Given the description of an element on the screen output the (x, y) to click on. 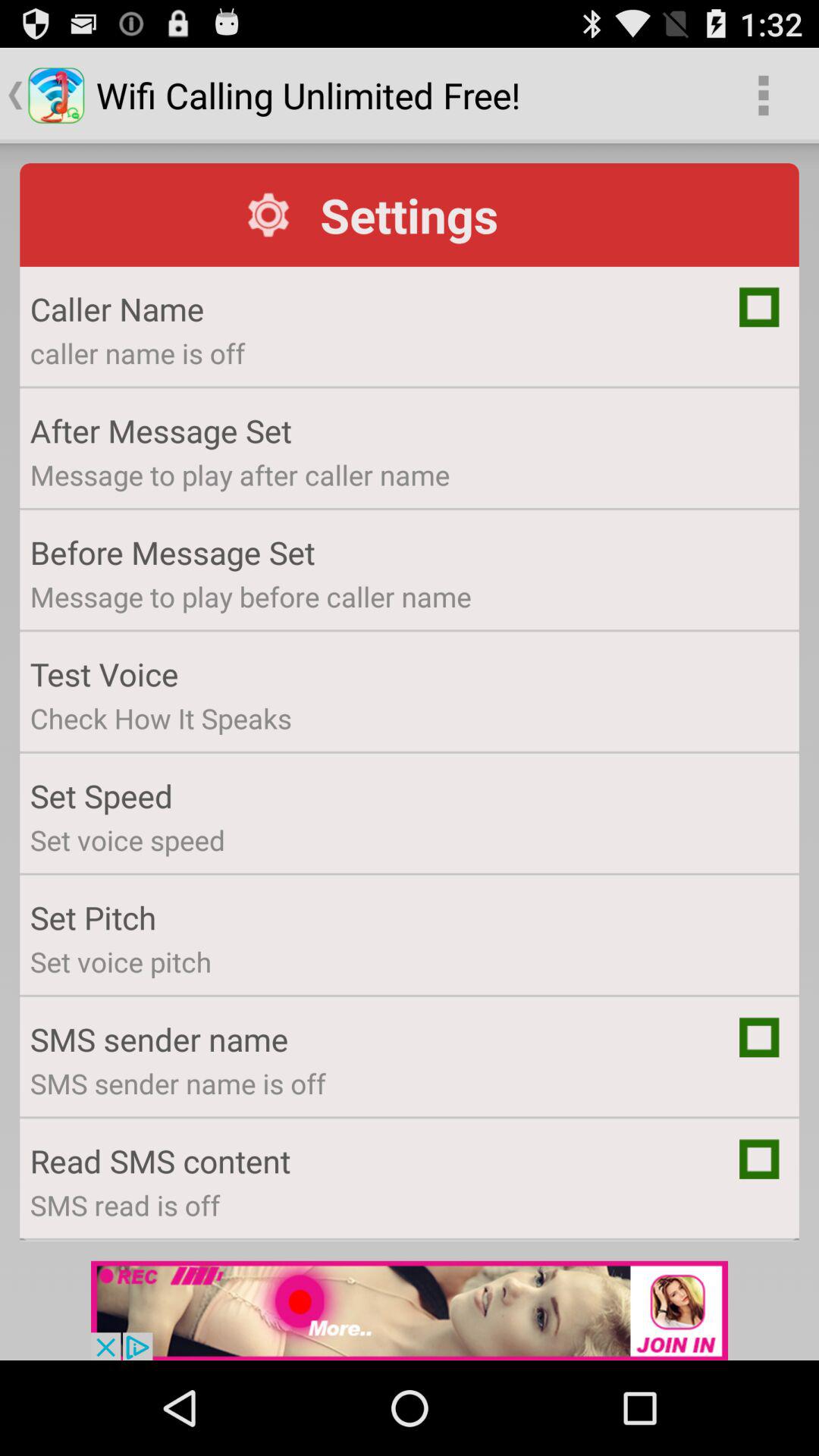
click check box (759, 307)
